Given the description of an element on the screen output the (x, y) to click on. 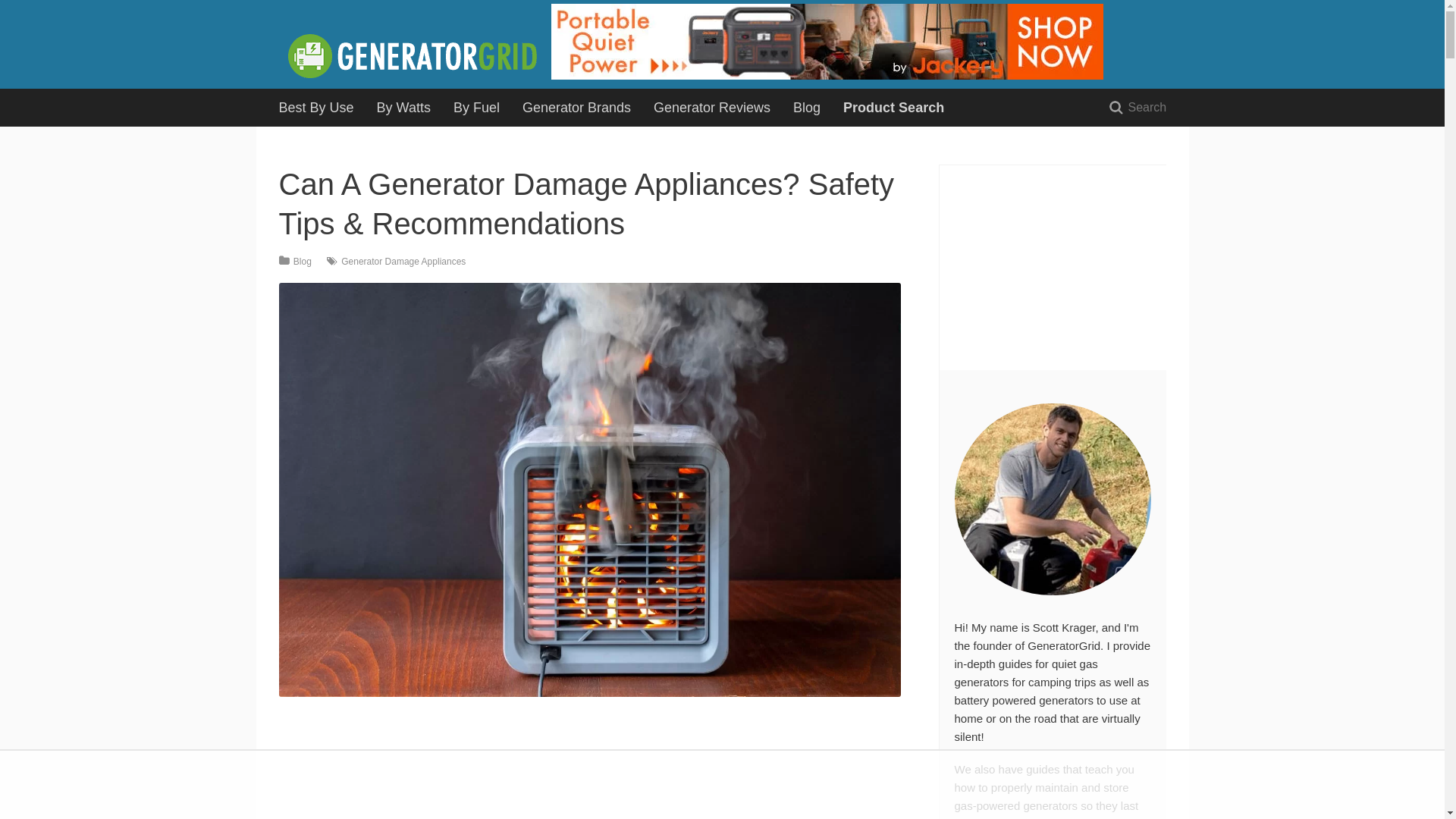
Generator Reviews (711, 107)
Best By Use (315, 107)
By Watts (403, 107)
By Fuel (476, 107)
Jackery portable power stations promotional banner (827, 78)
Blog (806, 107)
Generator Brands (576, 107)
Product Search (893, 107)
Find a generator (893, 107)
